Given the description of an element on the screen output the (x, y) to click on. 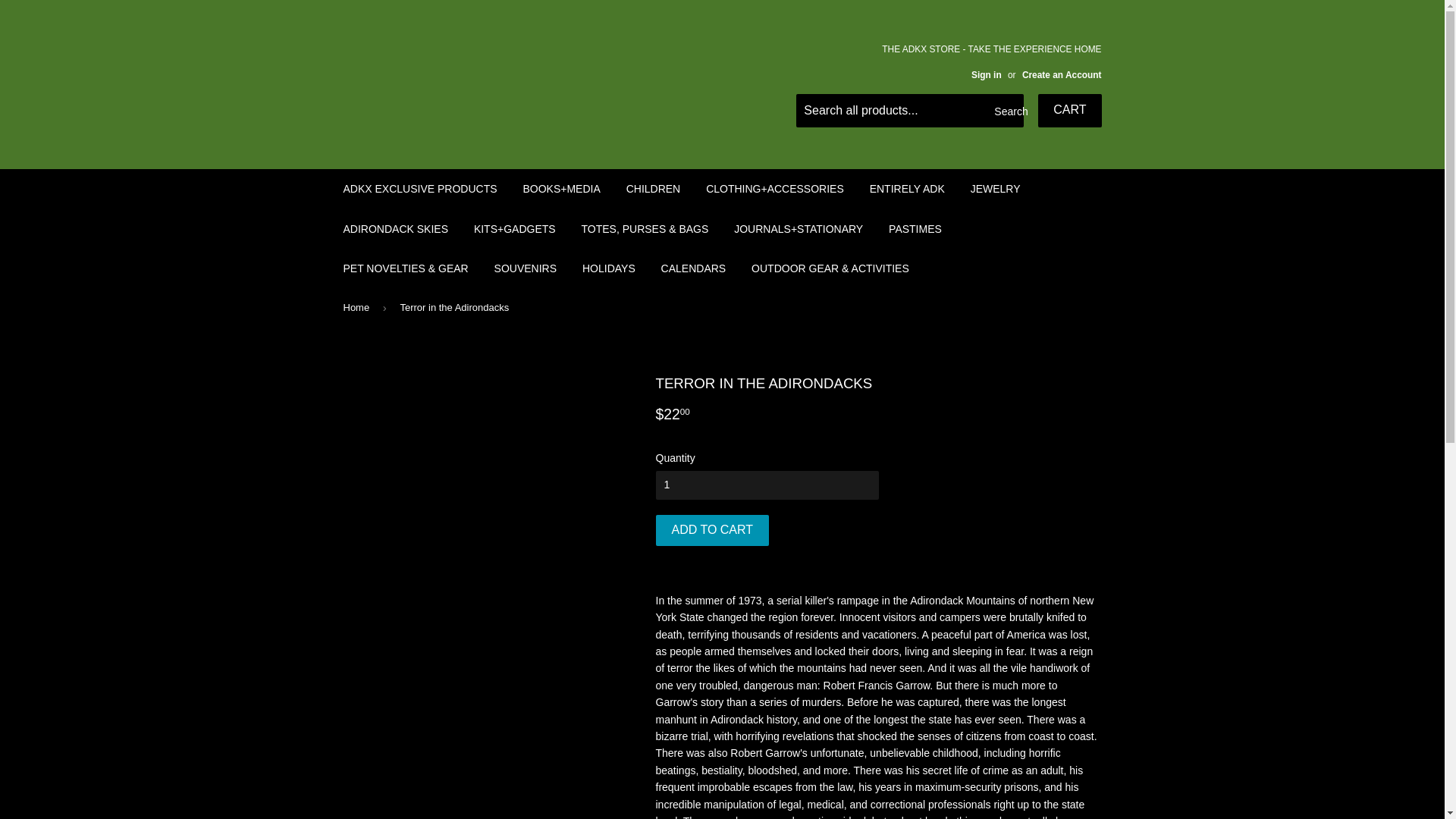
Sign in (986, 74)
CART (1069, 110)
1 (766, 484)
Back to the frontpage (358, 307)
Create an Account (1062, 74)
Search (1006, 111)
